Given the description of an element on the screen output the (x, y) to click on. 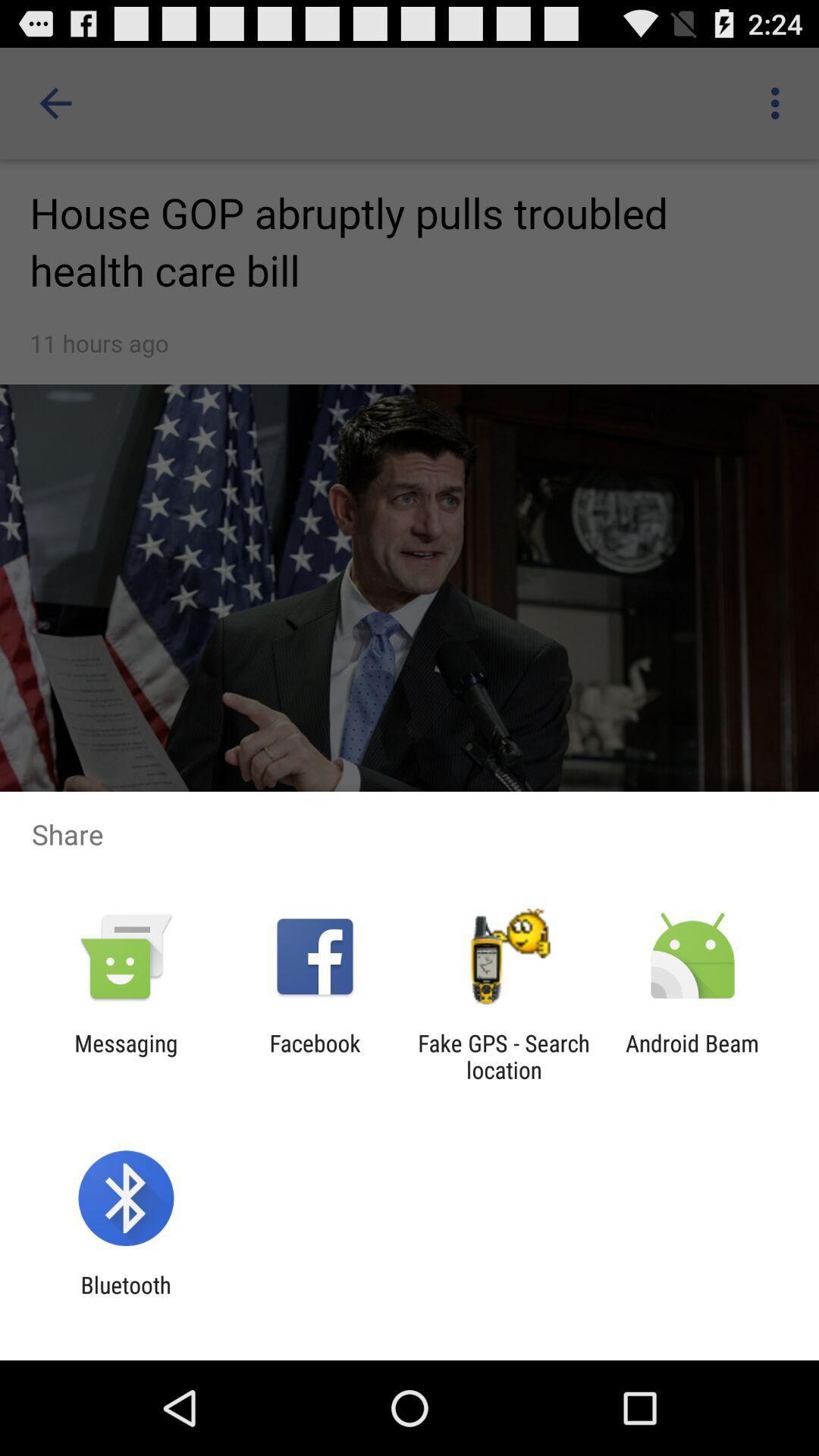
jump to messaging app (126, 1056)
